Given the description of an element on the screen output the (x, y) to click on. 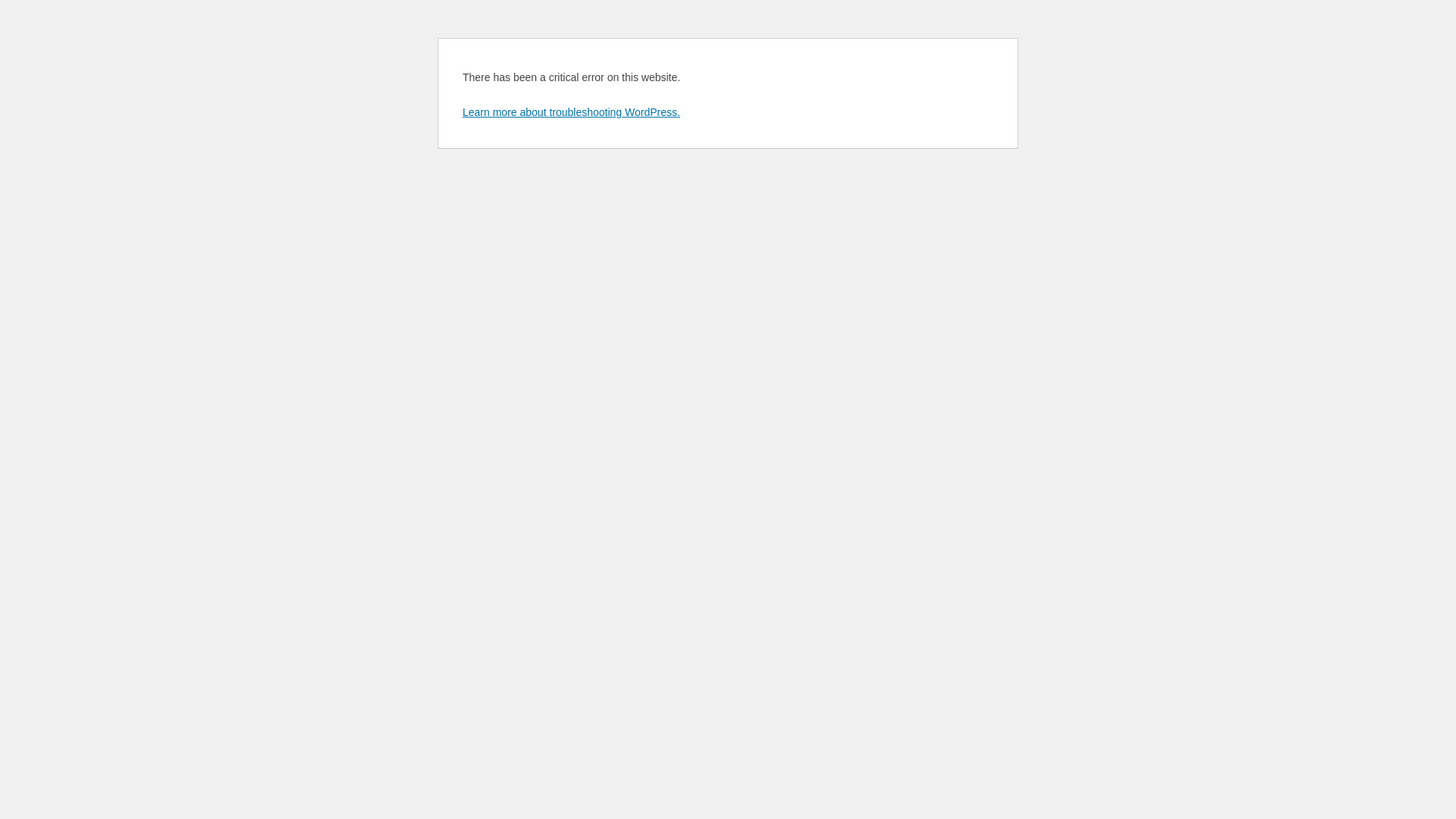
Learn more about troubleshooting WordPress. Element type: text (571, 112)
